Given the description of an element on the screen output the (x, y) to click on. 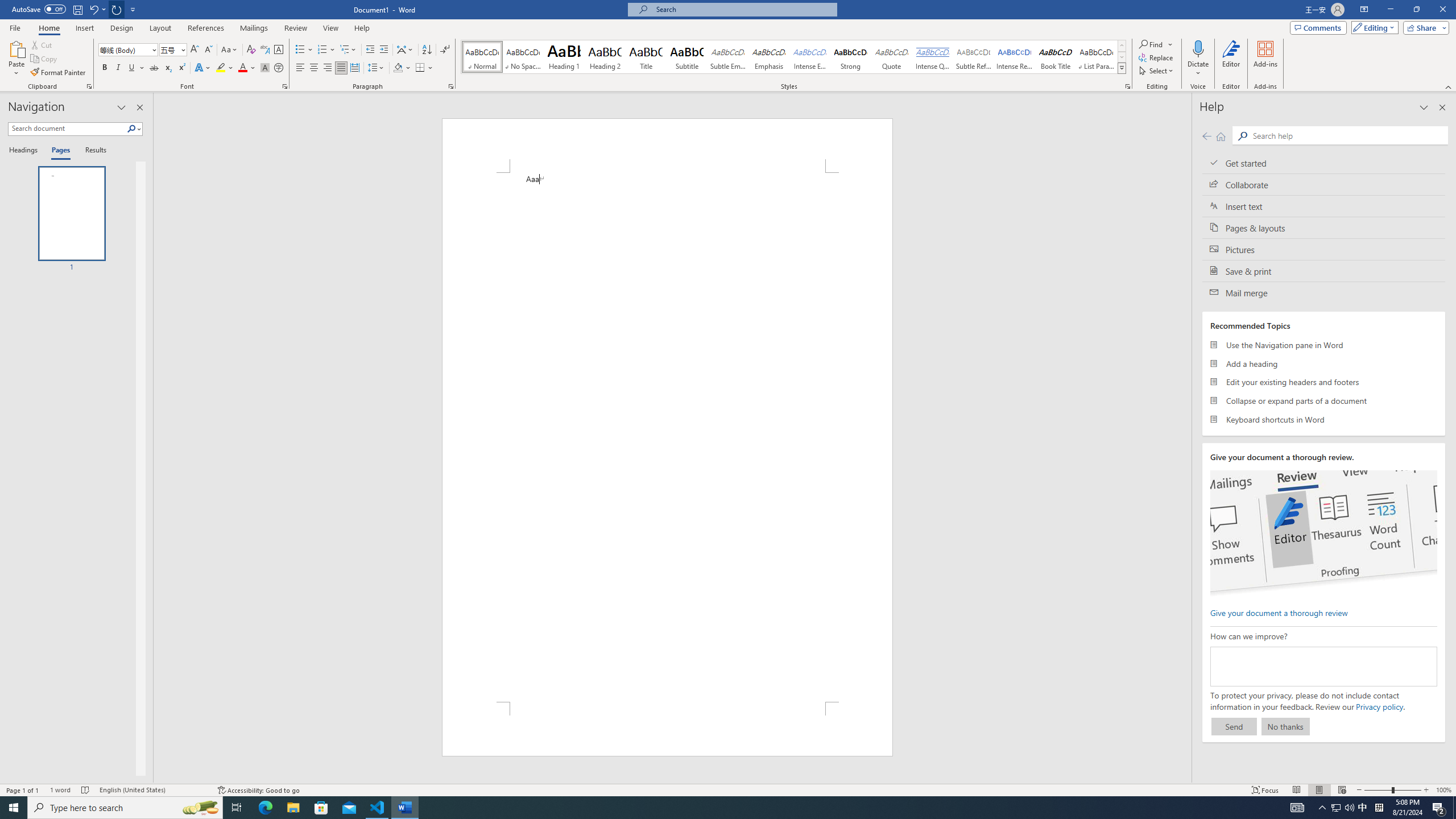
Repeat Style (117, 9)
Subtitle (686, 56)
Intense Emphasis (809, 56)
Undo Apply Quick Style (96, 9)
